Given the description of an element on the screen output the (x, y) to click on. 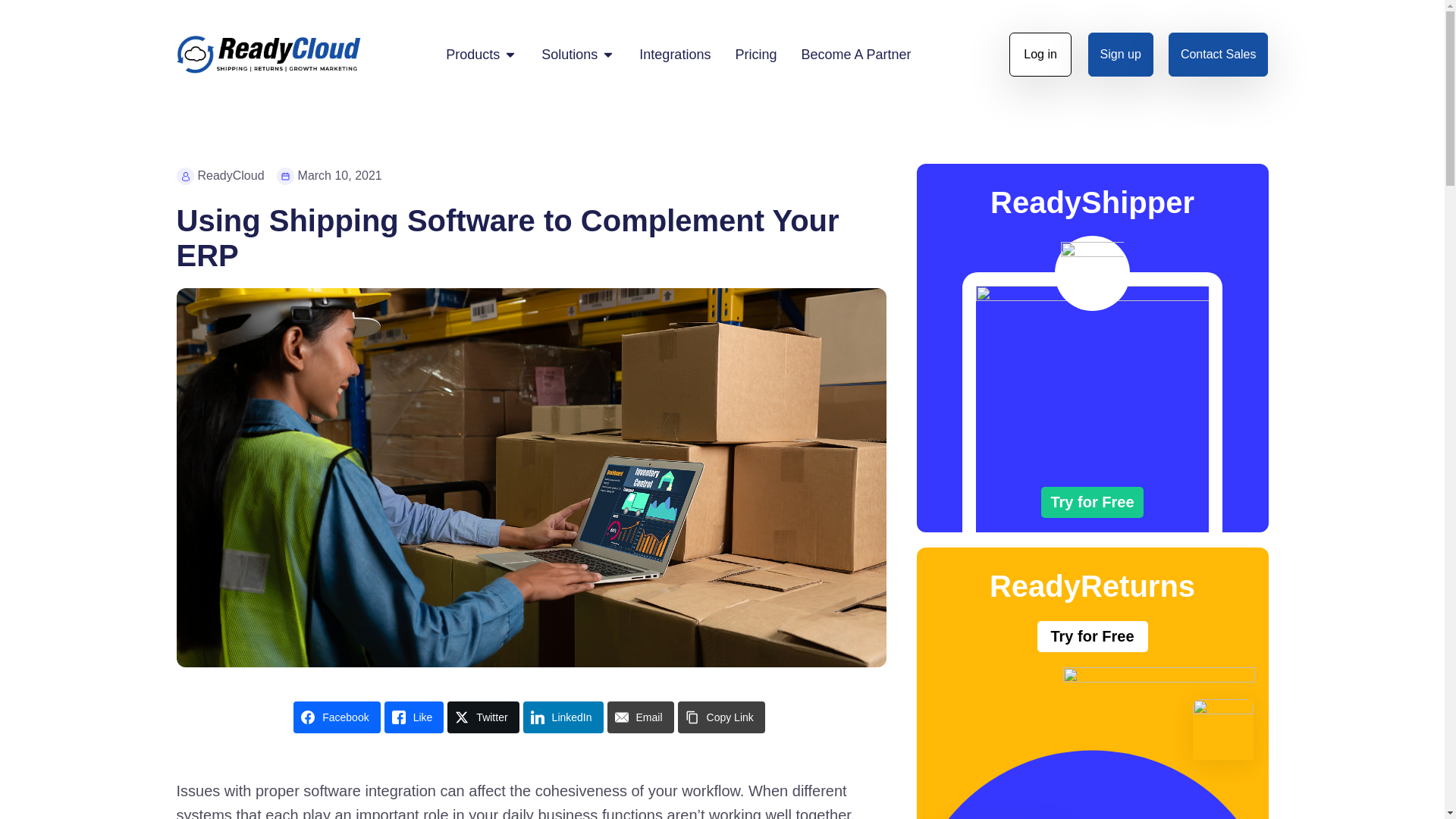
Integrations (674, 54)
Share on LinkedIn (563, 717)
Pricing (755, 54)
Share on Twitter (482, 717)
Share on Copy Link (721, 717)
Become A Partner (855, 54)
Share on Email (640, 717)
Share on Like (414, 717)
Share on Facebook (337, 717)
